Given the description of an element on the screen output the (x, y) to click on. 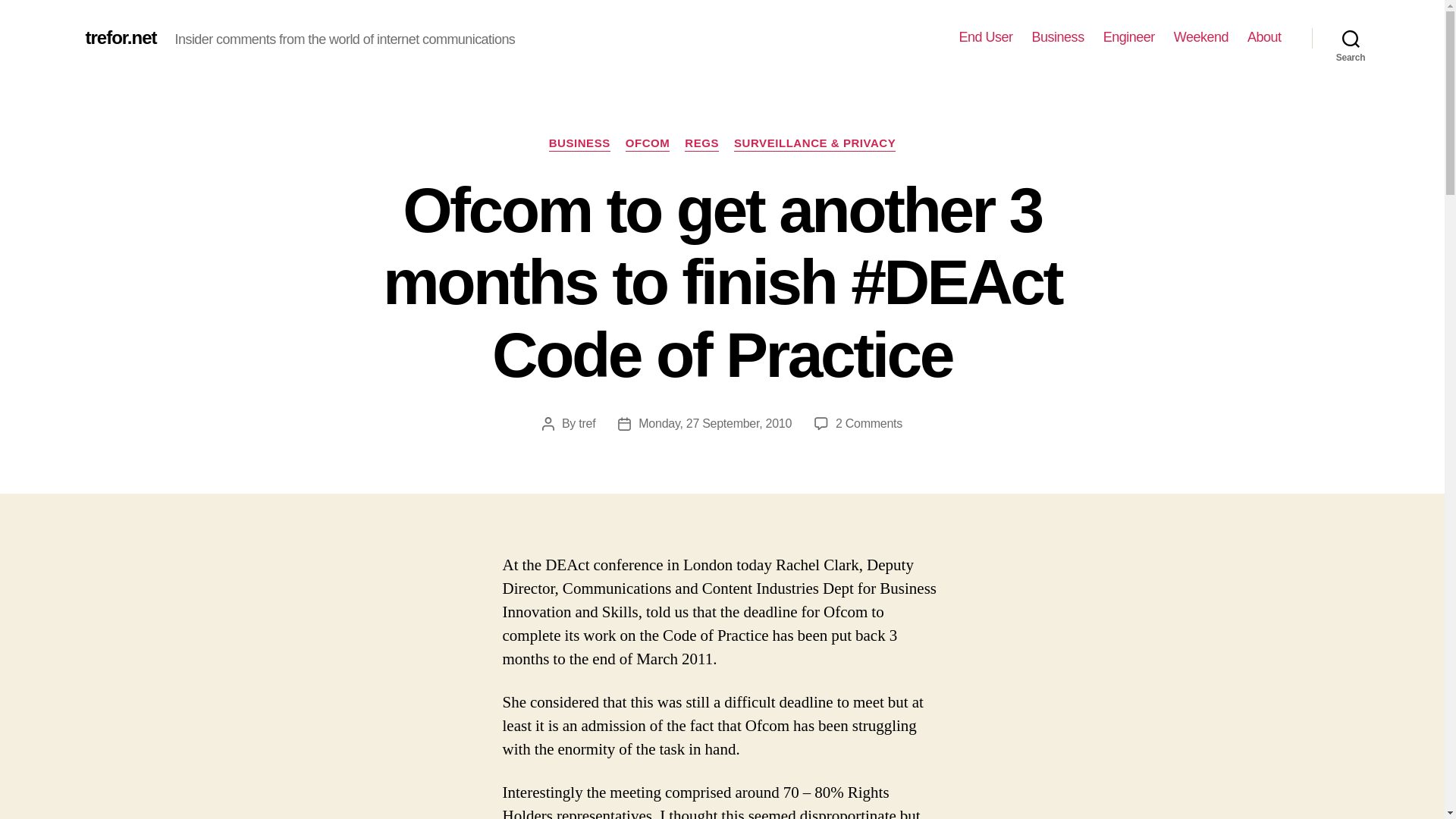
Business (1058, 37)
Search (1350, 37)
OFCOM (647, 143)
REGS (701, 143)
End User (986, 37)
About (1264, 37)
BUSINESS (579, 143)
tref (586, 422)
trefor.net (119, 37)
Engineer (1128, 37)
